Given the description of an element on the screen output the (x, y) to click on. 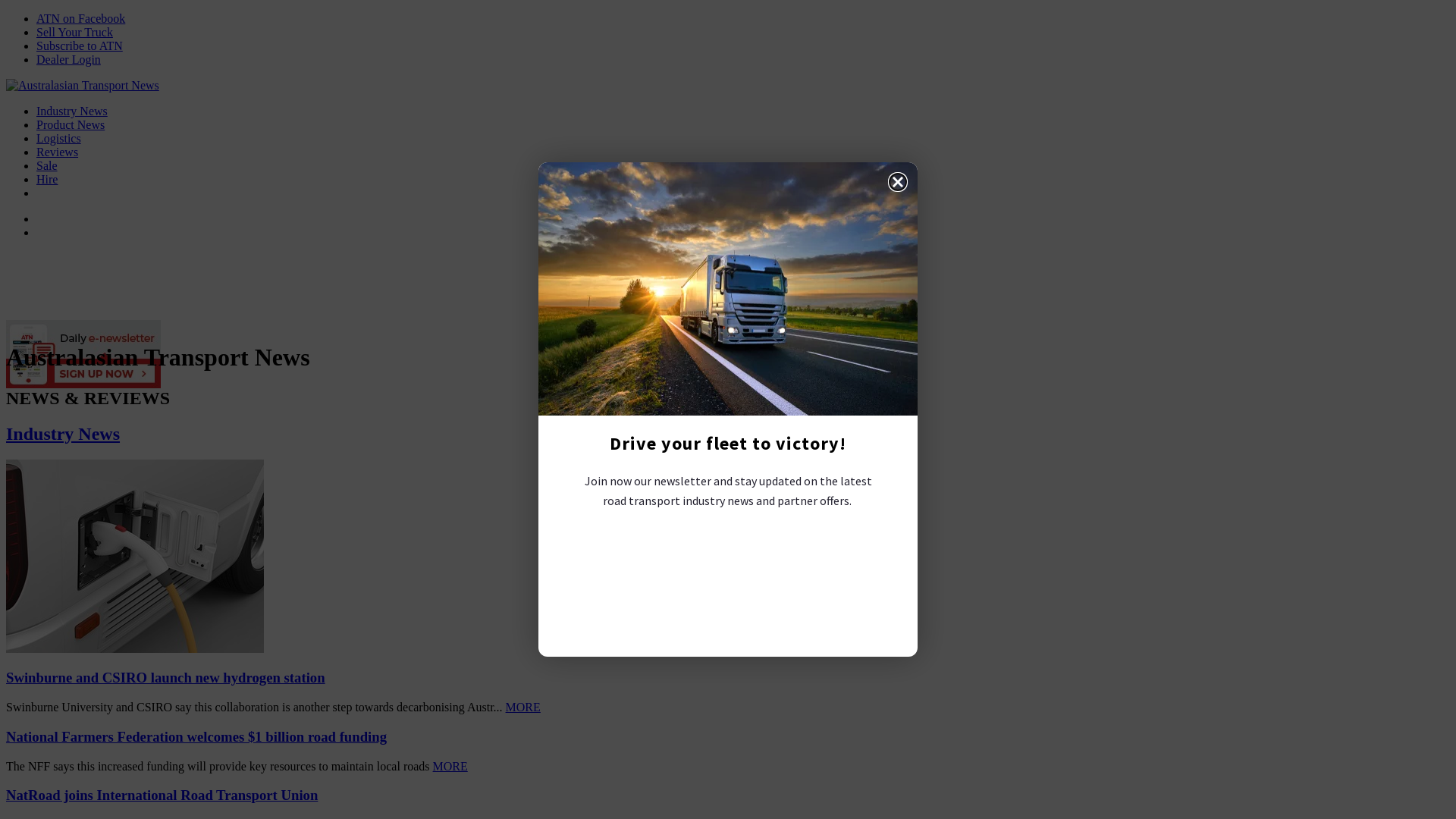
Hire Element type: text (46, 178)
National Farmers Federation welcomes $1 billion road funding Element type: text (196, 736)
Swinburne and CSIRO launch new hydrogen station Element type: text (165, 677)
Subscribe to ATN Element type: text (79, 45)
Industry News Element type: text (62, 433)
NatRoad joins International Road Transport Union Element type: text (161, 795)
Sale Element type: text (46, 165)
ATN on Facebook Element type: text (80, 18)
MORE Element type: text (450, 765)
Product News Element type: text (70, 124)
Logistics Element type: text (58, 137)
Reviews Element type: text (57, 151)
Industry News Element type: text (71, 110)
MORE Element type: text (522, 706)
Dealer Login Element type: text (68, 59)
Sell Your Truck Element type: text (74, 31)
Close Element type: hover (897, 181)
